Given the description of an element on the screen output the (x, y) to click on. 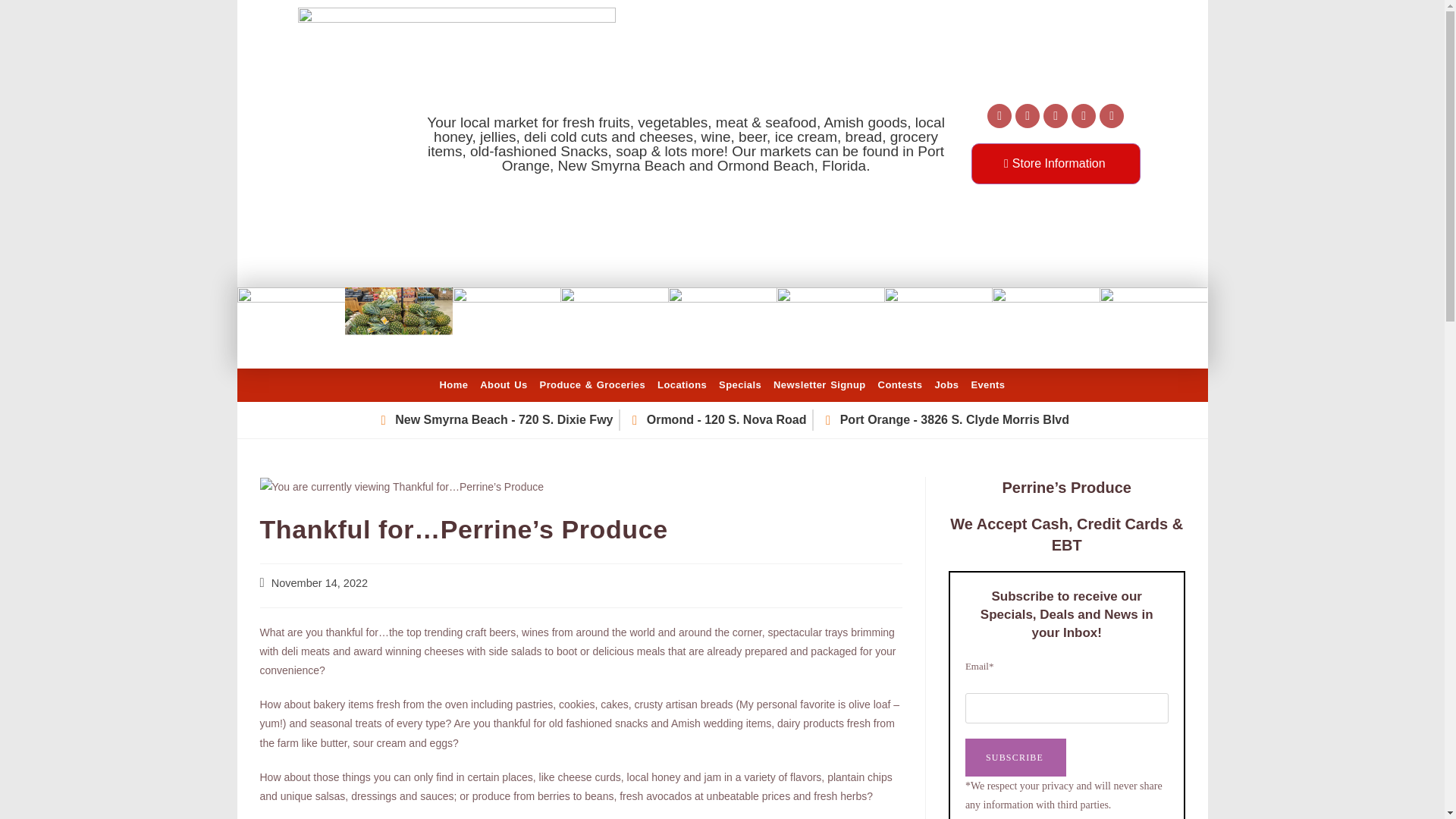
Specials (740, 384)
Store Information (1055, 162)
About Us (503, 384)
Newsletter Signup (819, 384)
Jobs (945, 384)
Subscribe (1015, 757)
Locations (681, 384)
Events (986, 384)
Contests (900, 384)
Home (453, 384)
